Given the description of an element on the screen output the (x, y) to click on. 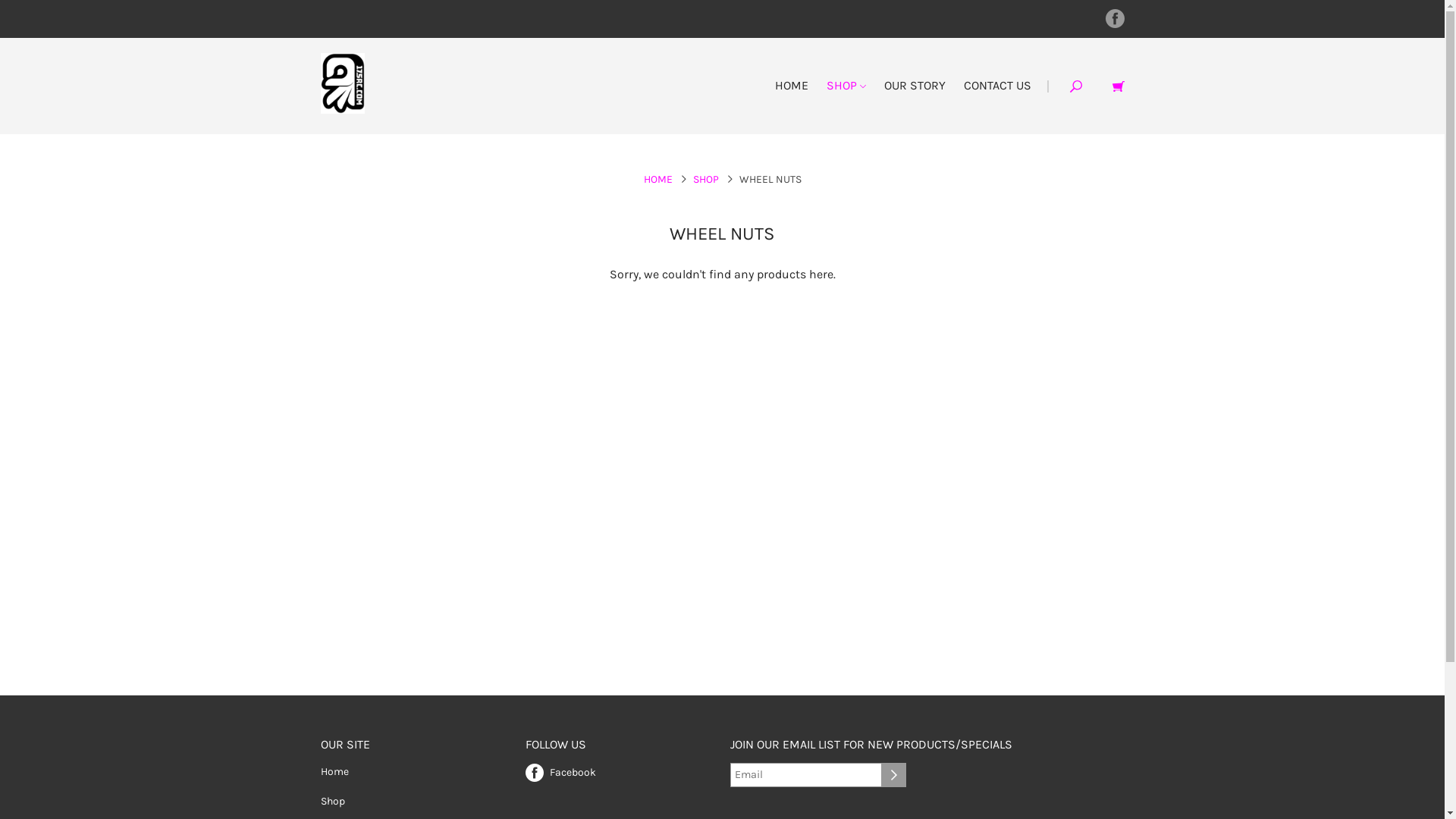
Shop Element type: text (332, 800)
HOME Element type: text (657, 178)
SHOP Element type: text (846, 85)
Home Element type: text (334, 771)
OUR STORY Element type: text (914, 85)
HOME Element type: text (791, 85)
CONTACT US Element type: text (996, 85)
Facebook Element type: text (559, 770)
SHOP Element type: text (705, 178)
